Given the description of an element on the screen output the (x, y) to click on. 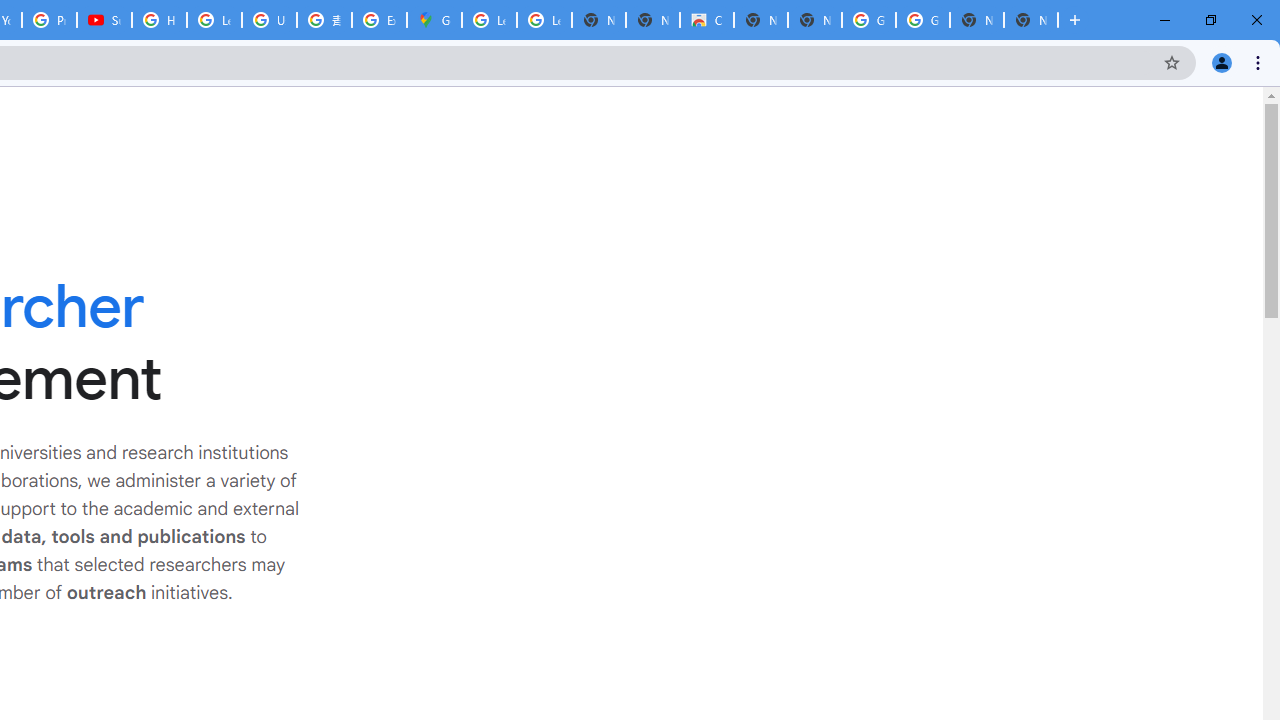
How Chrome protects your passwords - Google Chrome Help (158, 20)
Google Images (922, 20)
